Given the description of an element on the screen output the (x, y) to click on. 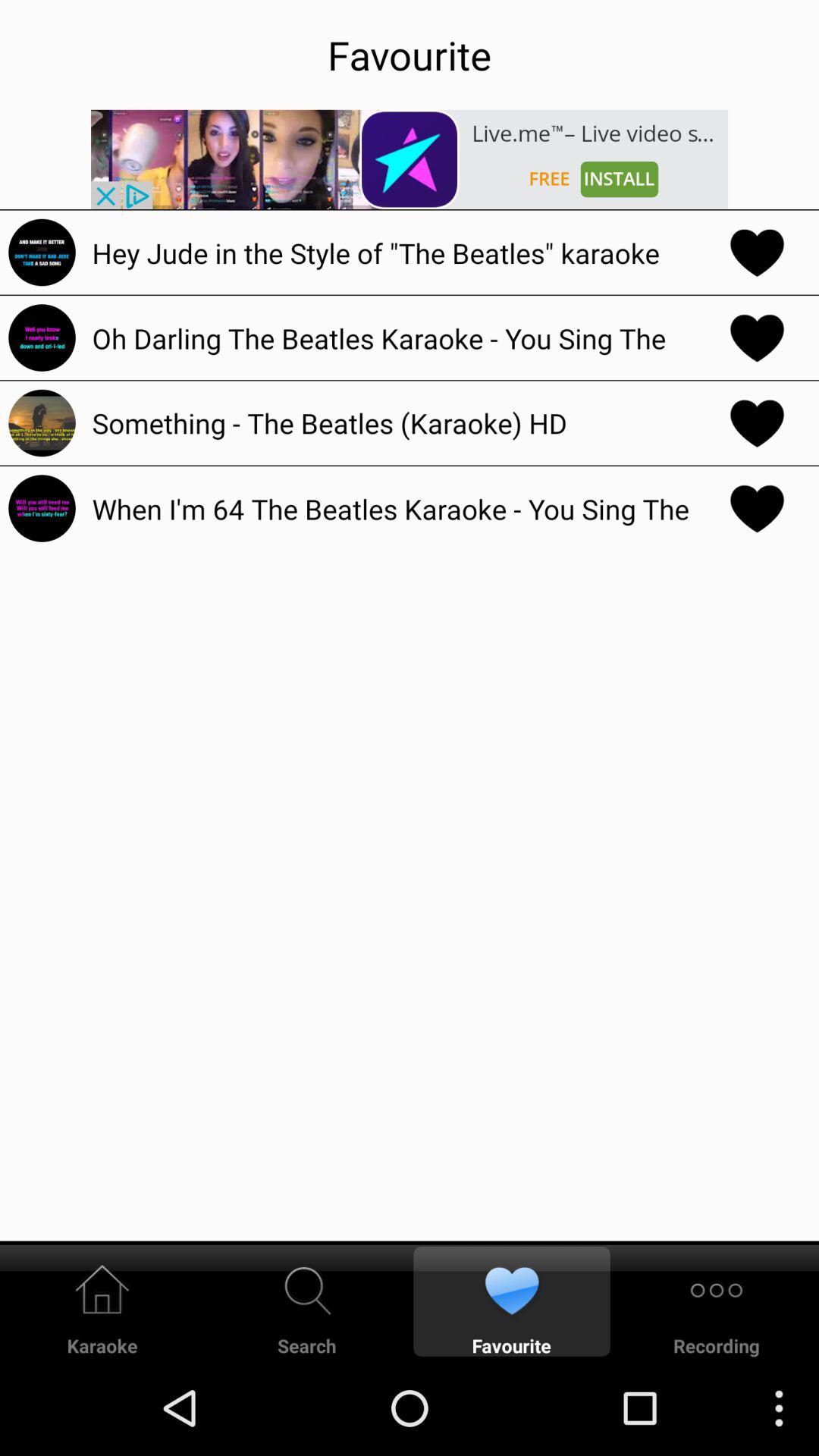
favourite song (756, 252)
